Given the description of an element on the screen output the (x, y) to click on. 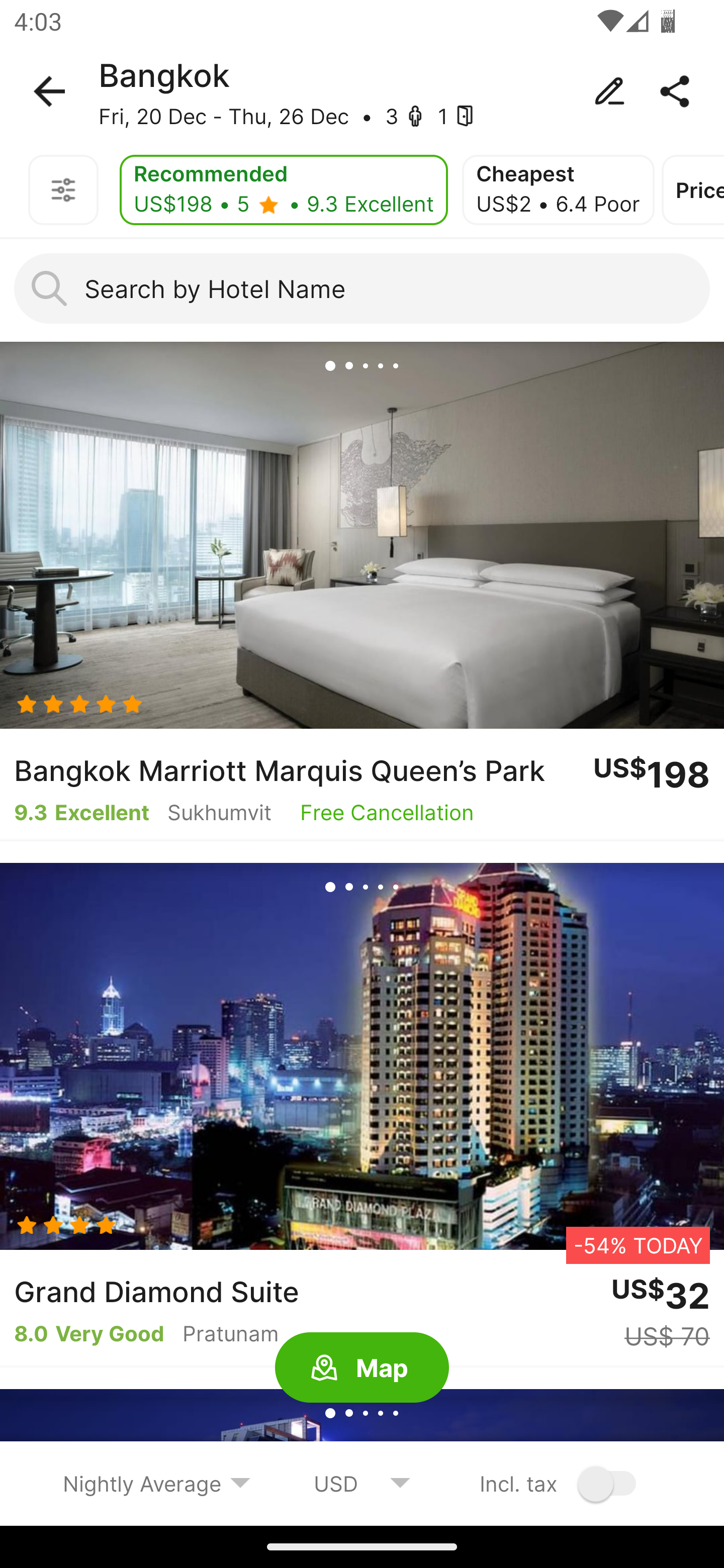
Bangkok Fri, 20 Dec - Thu, 26 Dec  •  3 -  1 - (361, 91)
Recommended  US$198  • 5 - • 9.3 Excellent (283, 190)
Cheapest US$2  • 6.4 Poor (557, 190)
Search by Hotel Name  (361, 288)
Map  (361, 1367)
Nightly Average (156, 1482)
USD (361, 1482)
